Given the description of an element on the screen output the (x, y) to click on. 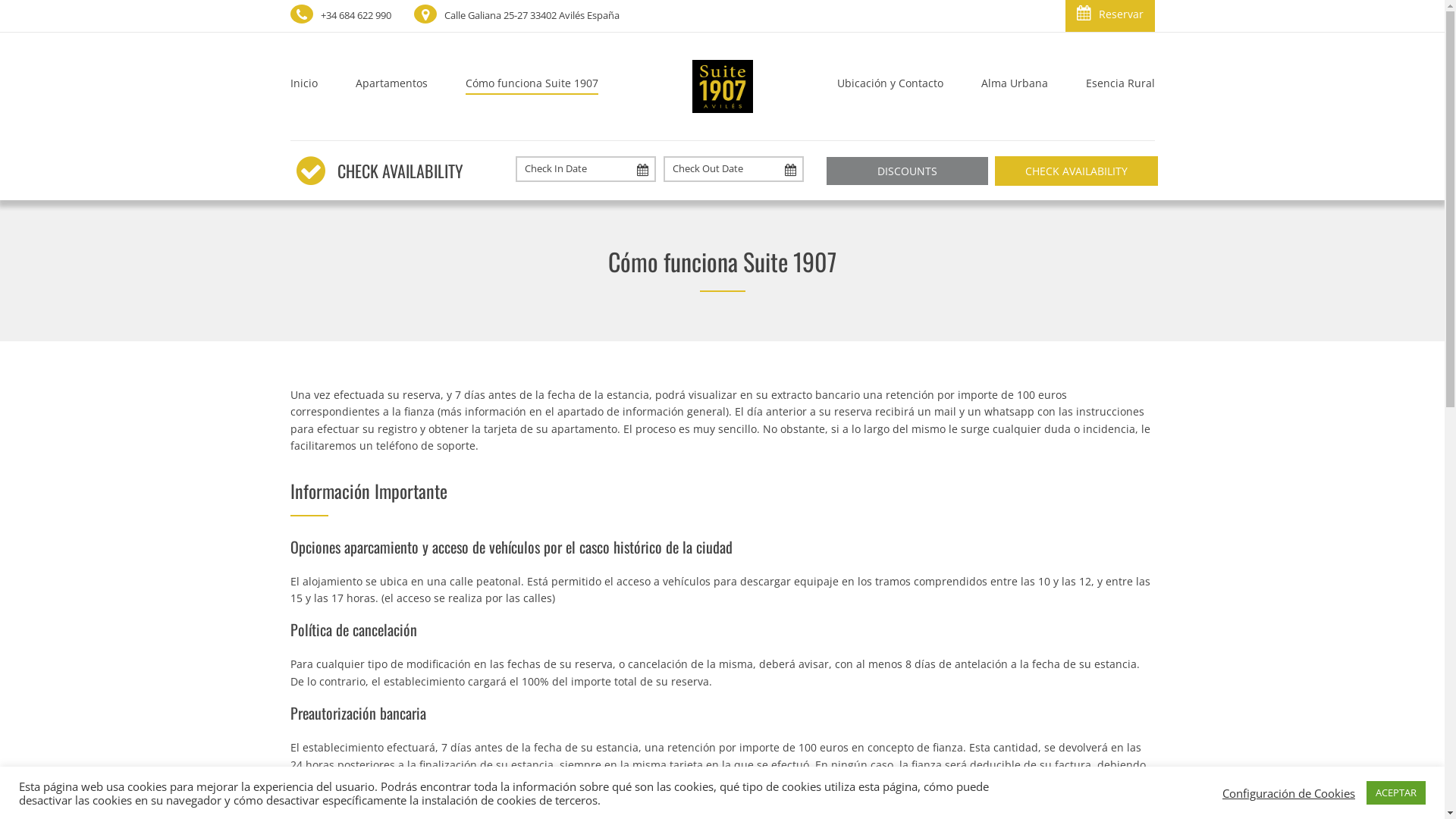
Reservar Element type: text (1109, 15)
DISCOUNTS Element type: text (907, 170)
Alma Urbana Element type: text (1013, 86)
ACEPTAR Element type: text (1395, 792)
Esencia Rural Element type: text (1110, 86)
Apartamentos Element type: text (391, 86)
CHECK AVAILABILITY Element type: text (1075, 170)
Inicio Element type: text (312, 86)
